Given the description of an element on the screen output the (x, y) to click on. 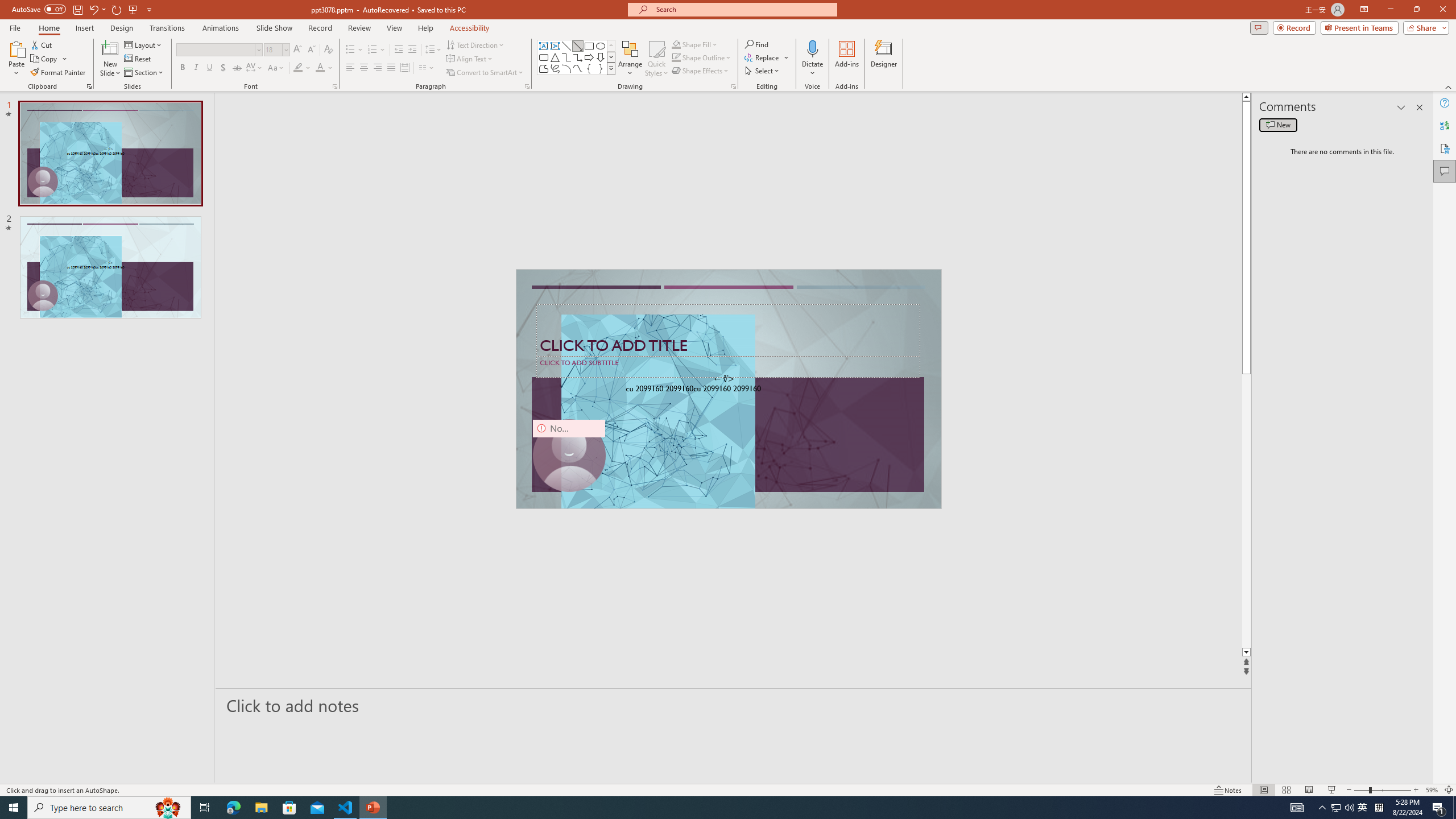
TextBox 61 (727, 389)
